Given the description of an element on the screen output the (x, y) to click on. 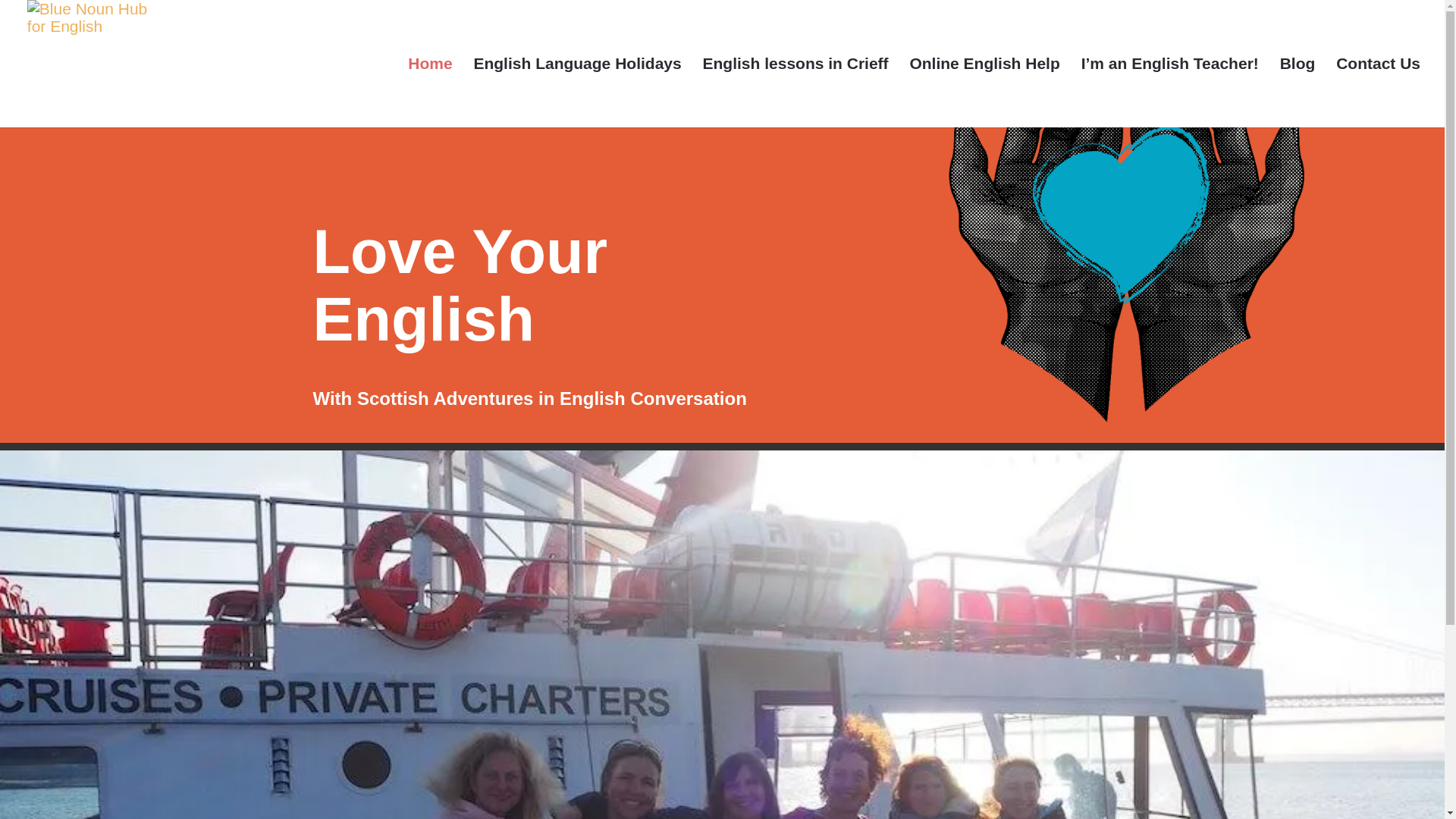
English Language Holidays (577, 92)
English lessons in Crieff (795, 92)
Contact Us (1378, 92)
Blog (1297, 92)
Online English Help (983, 92)
Home (429, 92)
